Given the description of an element on the screen output the (x, y) to click on. 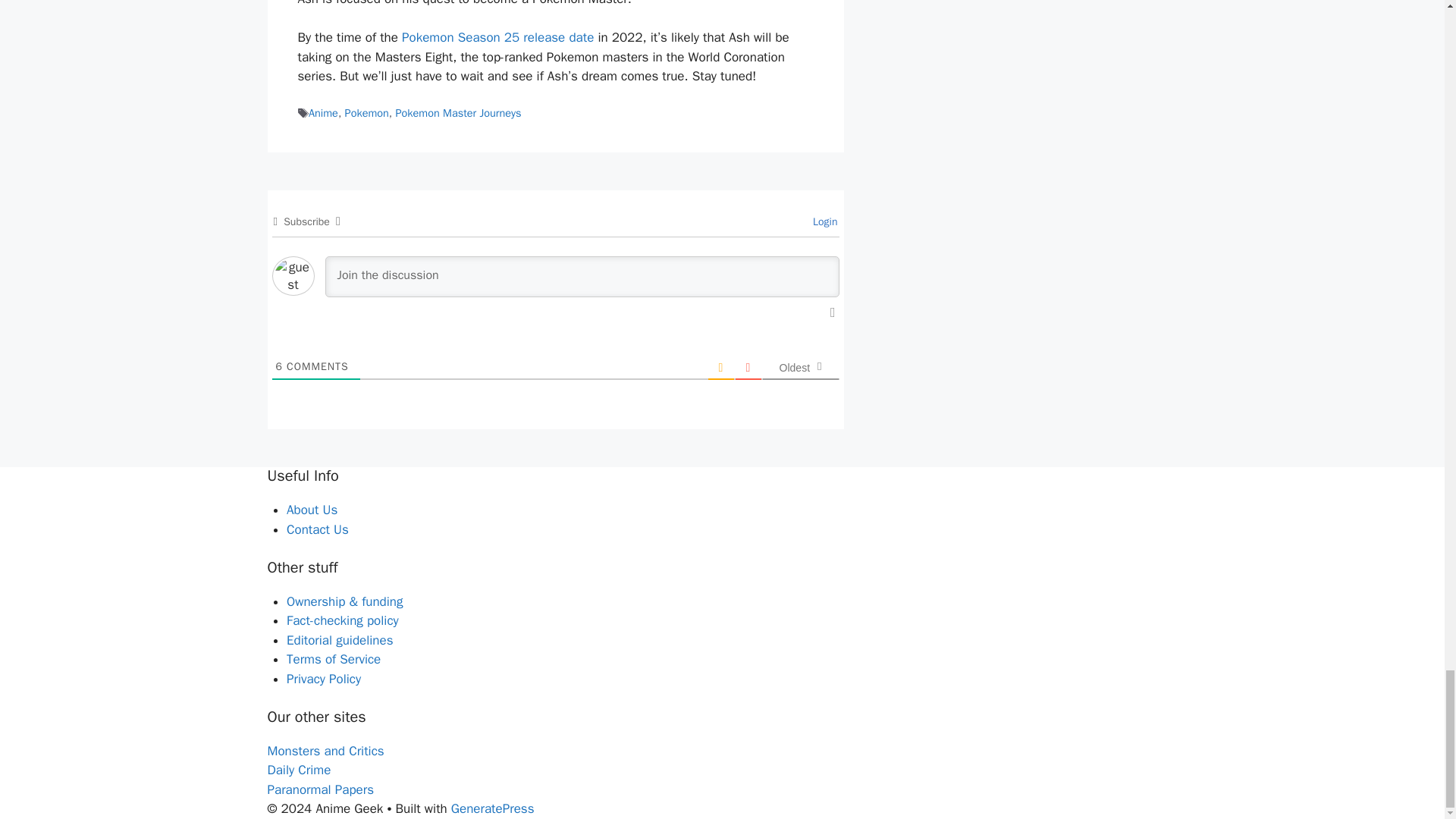
Pokemon Season 25 release date (497, 37)
Pokemon Master Journeys (457, 112)
Pokemon (366, 112)
Anime (322, 112)
Login (823, 221)
